Given the description of an element on the screen output the (x, y) to click on. 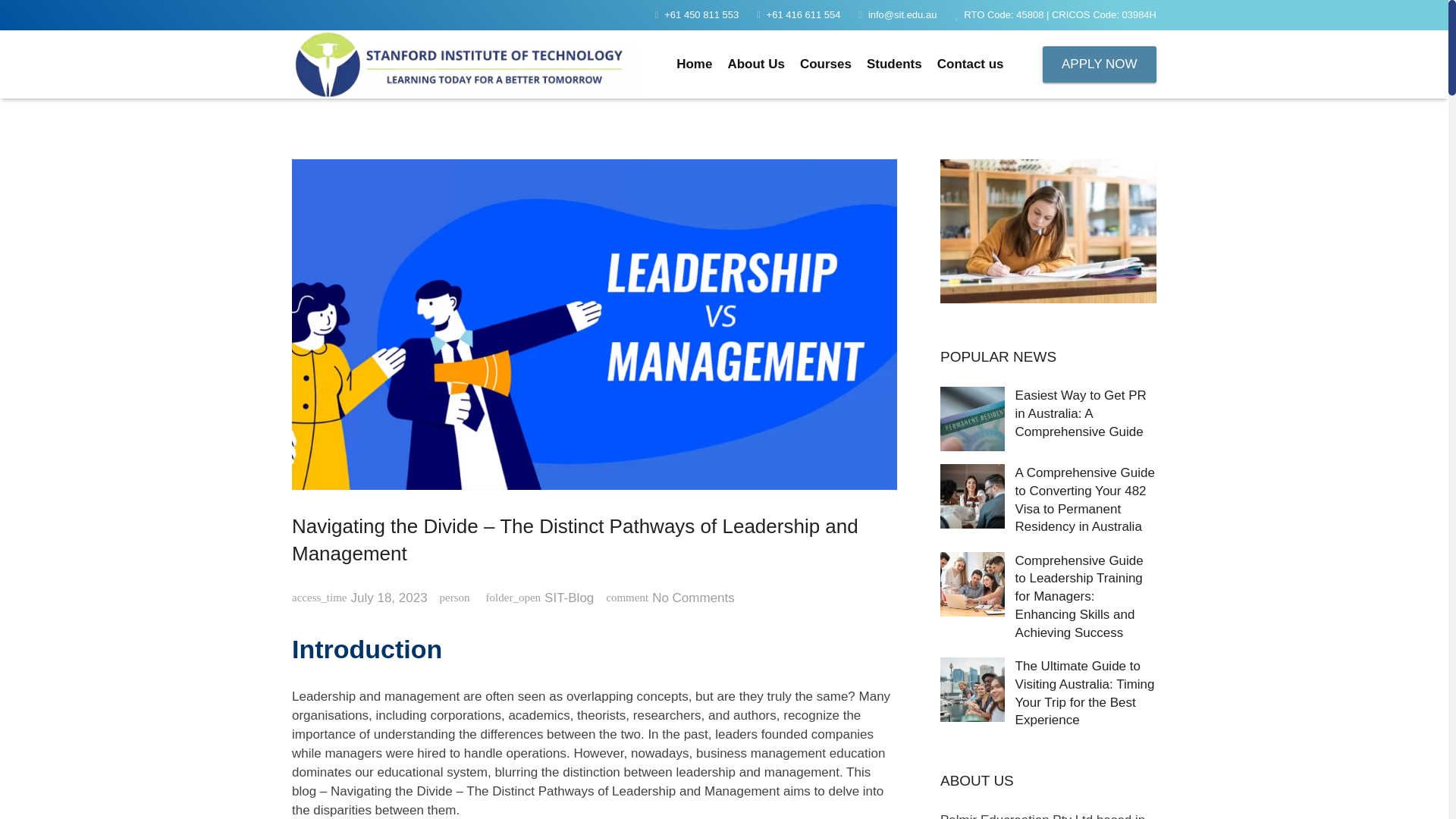
Home (693, 64)
Students (894, 64)
SIT-Blog (569, 597)
No Comments (693, 597)
Courses (825, 64)
Easiest Way to Get PR in Australia: A Comprehensive Guide (1080, 413)
About Us (755, 64)
APPLY NOW (1099, 63)
Contact us (970, 64)
